Given the description of an element on the screen output the (x, y) to click on. 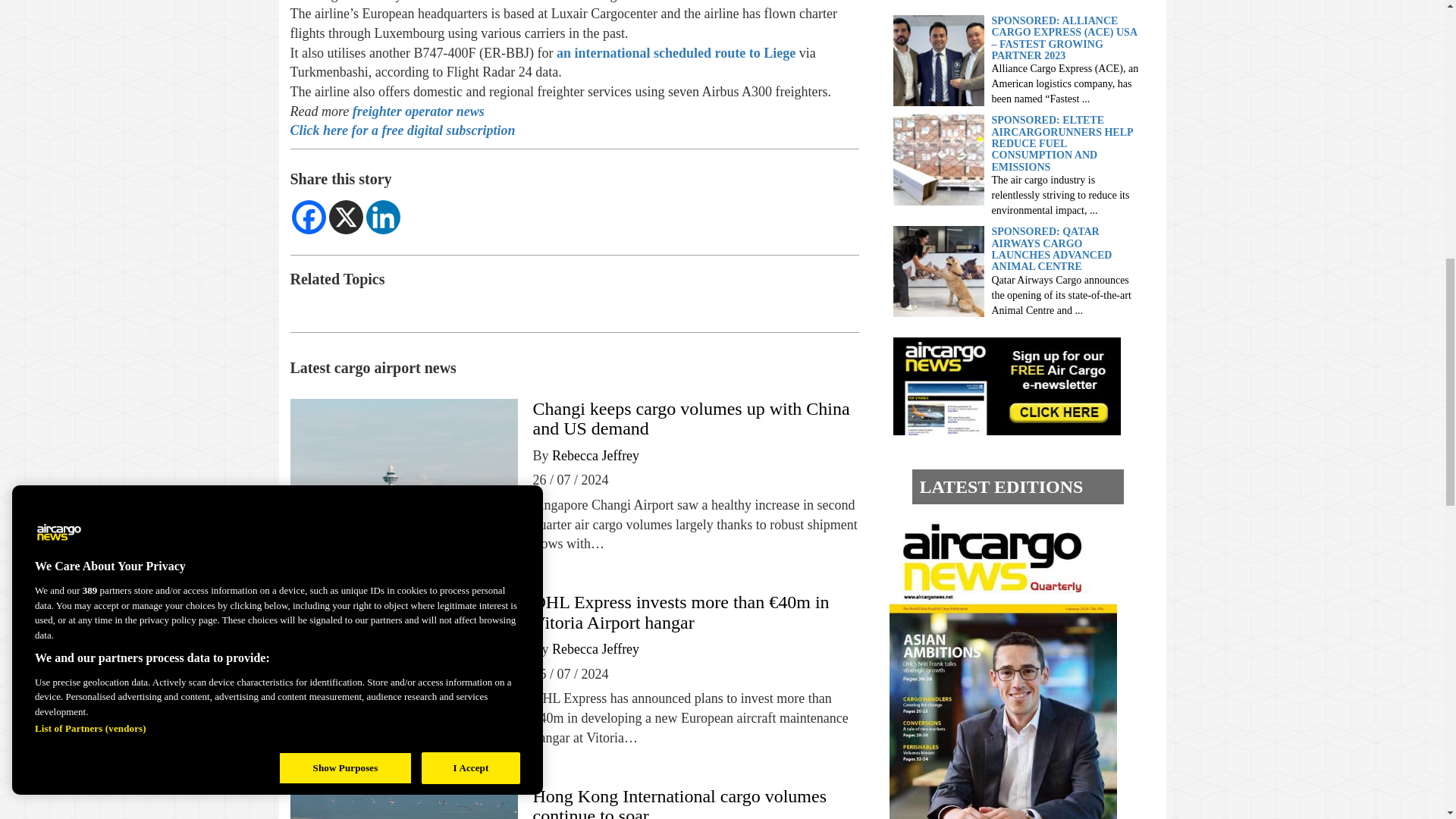
Facebook (307, 216)
Opens external link in new window (677, 52)
Opens external link in new window (402, 130)
Linkedin (381, 216)
X (345, 216)
Opens external link in new window (416, 111)
